Given the description of an element on the screen output the (x, y) to click on. 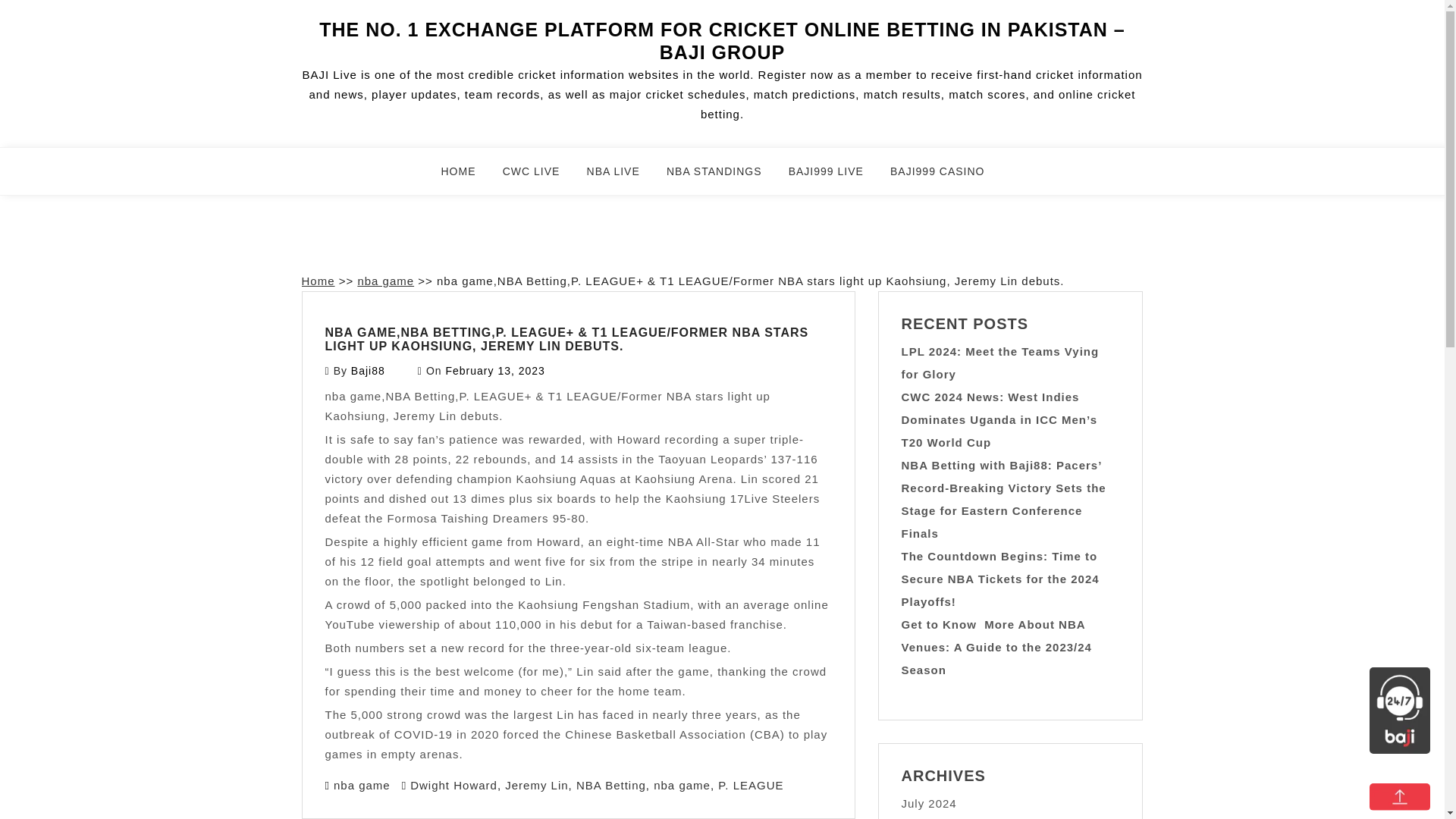
Go to the nba game Category archives. (384, 280)
July 2024 (928, 802)
top (1399, 796)
nba game (681, 784)
NBA STANDINGS (723, 177)
LPL 2024: Meet the Teams Vying for Glory (1000, 362)
P. LEAGUE (750, 784)
Jeremy Lin (536, 784)
Baji88 (367, 370)
